Given the description of an element on the screen output the (x, y) to click on. 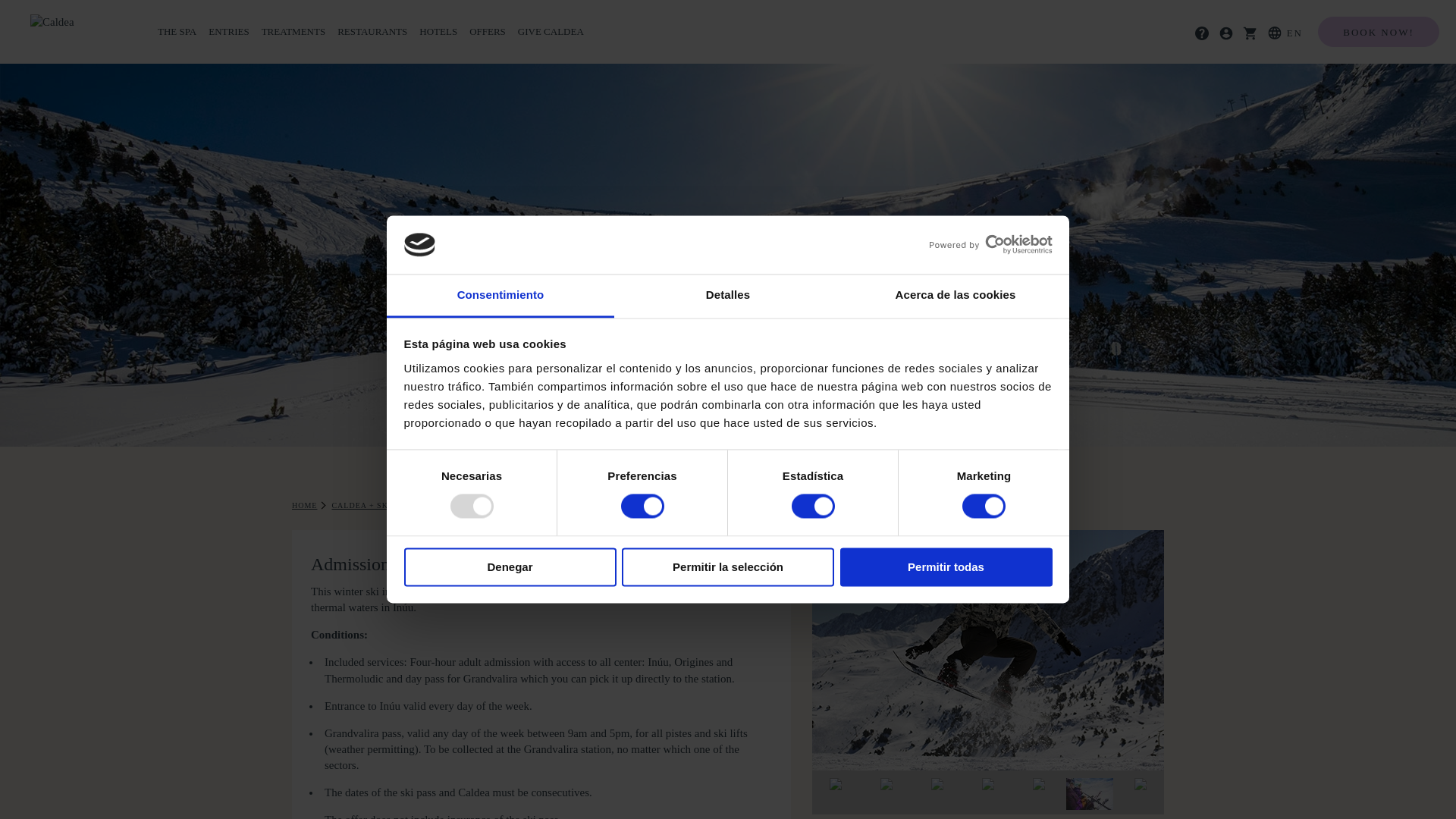
Created with Sketch. (1201, 33)
Consentimiento (500, 295)
Acerca de las cookies (954, 295)
Detalles (727, 295)
